Given the description of an element on the screen output the (x, y) to click on. 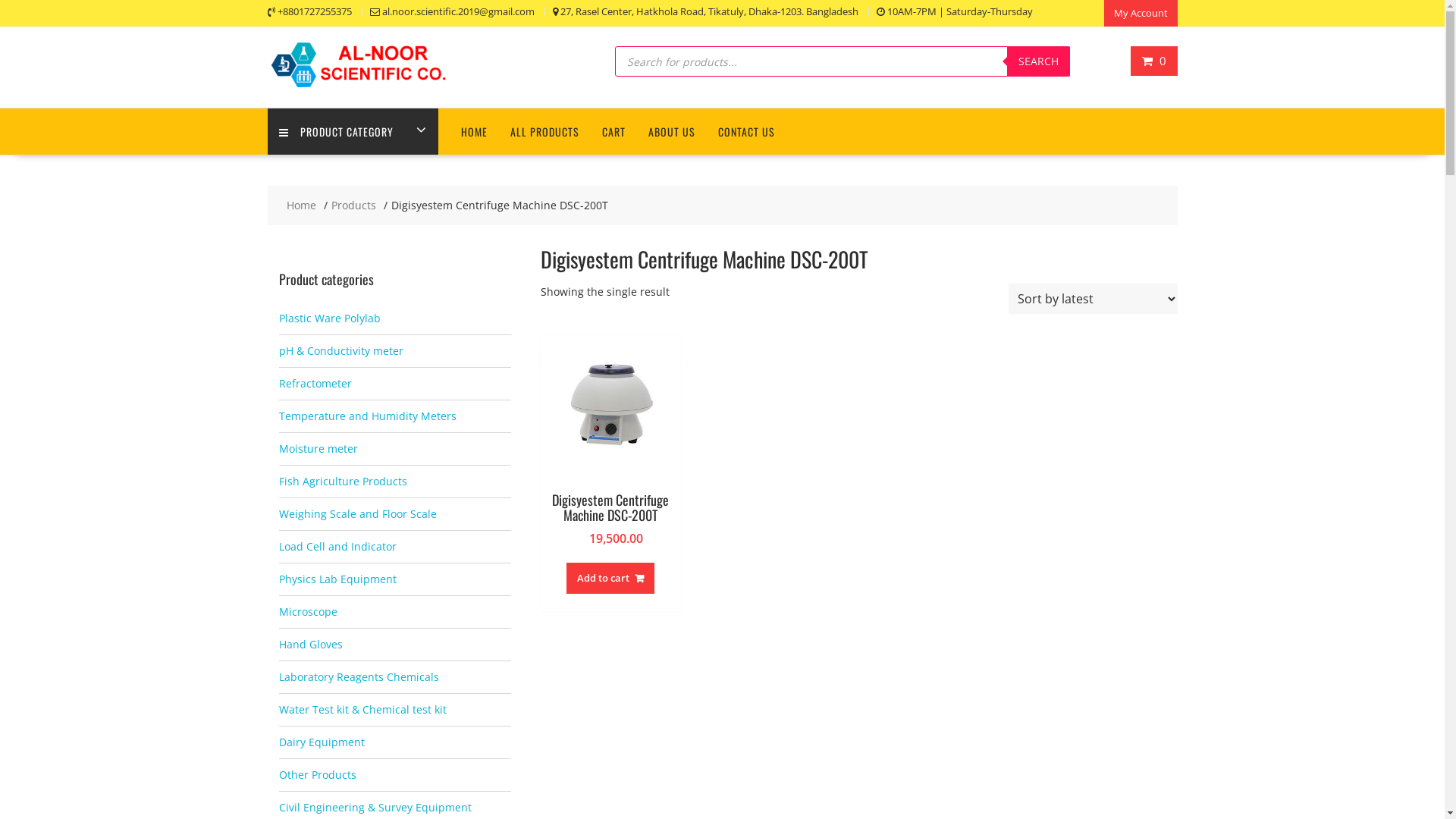
Moisture meter Element type: text (318, 448)
CART Element type: text (612, 131)
pH & Conductivity meter Element type: text (341, 350)
Load Cell and Indicator Element type: text (337, 546)
Temperature and Humidity Meters Element type: text (367, 415)
Plastic Ware Polylab Element type: text (329, 317)
HOME Element type: text (473, 131)
Civil Engineering & Survey Equipment Element type: text (375, 807)
Refractometer Element type: text (315, 383)
Add to cart Element type: text (610, 577)
0 Element type: text (1154, 60)
Water Test kit & Chemical test kit Element type: text (362, 709)
Dairy Equipment Element type: text (321, 741)
Home Element type: text (301, 205)
My Account Element type: text (1140, 13)
Microscope Element type: text (308, 611)
Fish Agriculture Products Element type: text (343, 480)
Physics Lab Equipment Element type: text (337, 578)
Other Products Element type: text (317, 774)
CONTACT US Element type: text (746, 131)
Laboratory Reagents Chemicals Element type: text (359, 676)
Hand Gloves Element type: text (310, 644)
PRODUCT CATEGORY Element type: text (351, 131)
ALL PRODUCTS Element type: text (544, 131)
SEARCH Element type: text (1038, 61)
ABOUT US Element type: text (671, 131)
Weighing Scale and Floor Scale Element type: text (357, 513)
Products Element type: text (352, 205)
